Given the description of an element on the screen output the (x, y) to click on. 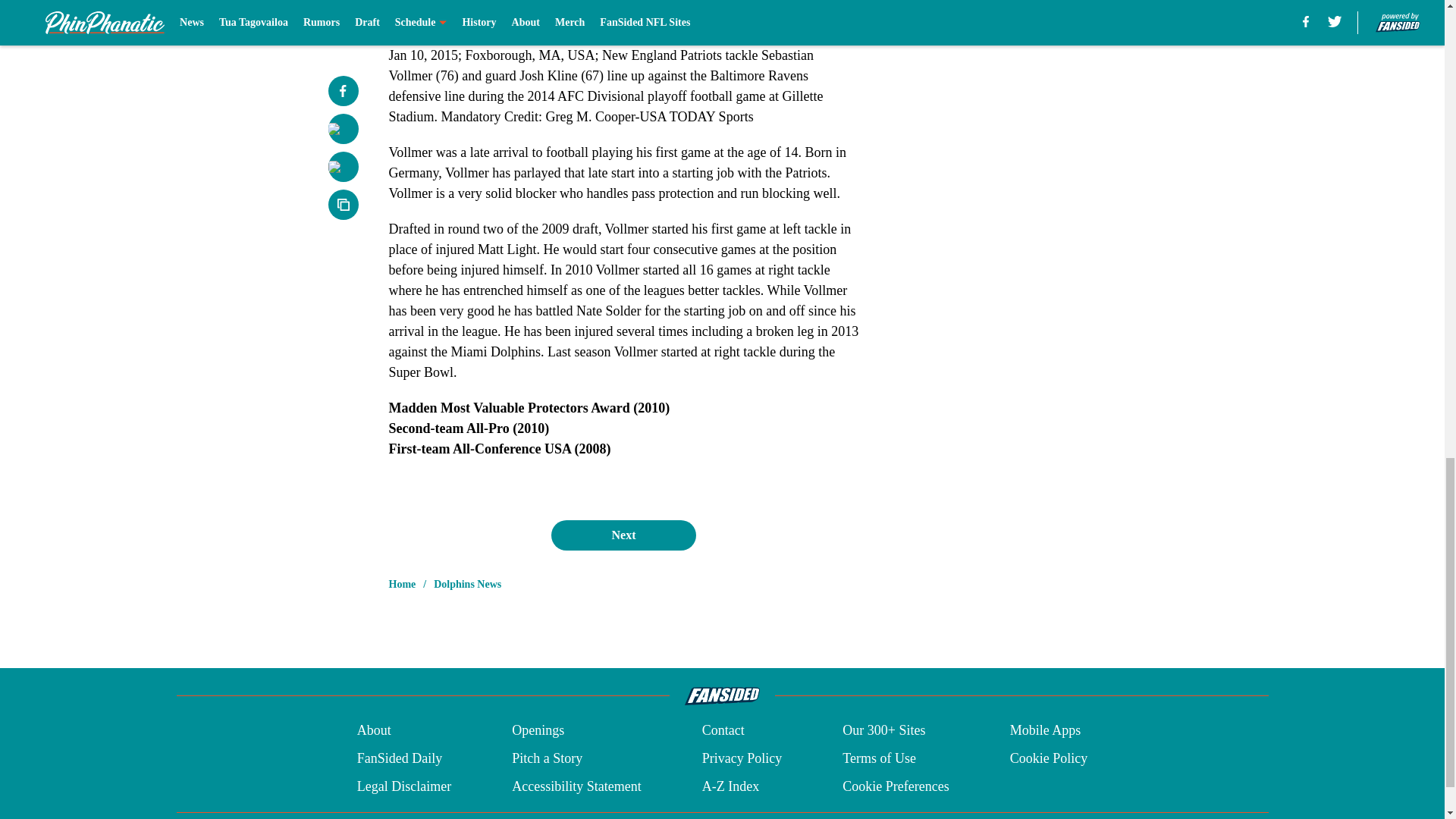
Accessibility Statement (576, 786)
Pitch a Story (547, 758)
Openings (538, 730)
Contact (722, 730)
Legal Disclaimer (403, 786)
Home (401, 584)
Cookie Policy (1048, 758)
Mobile Apps (1045, 730)
Next (622, 535)
About (373, 730)
